Given the description of an element on the screen output the (x, y) to click on. 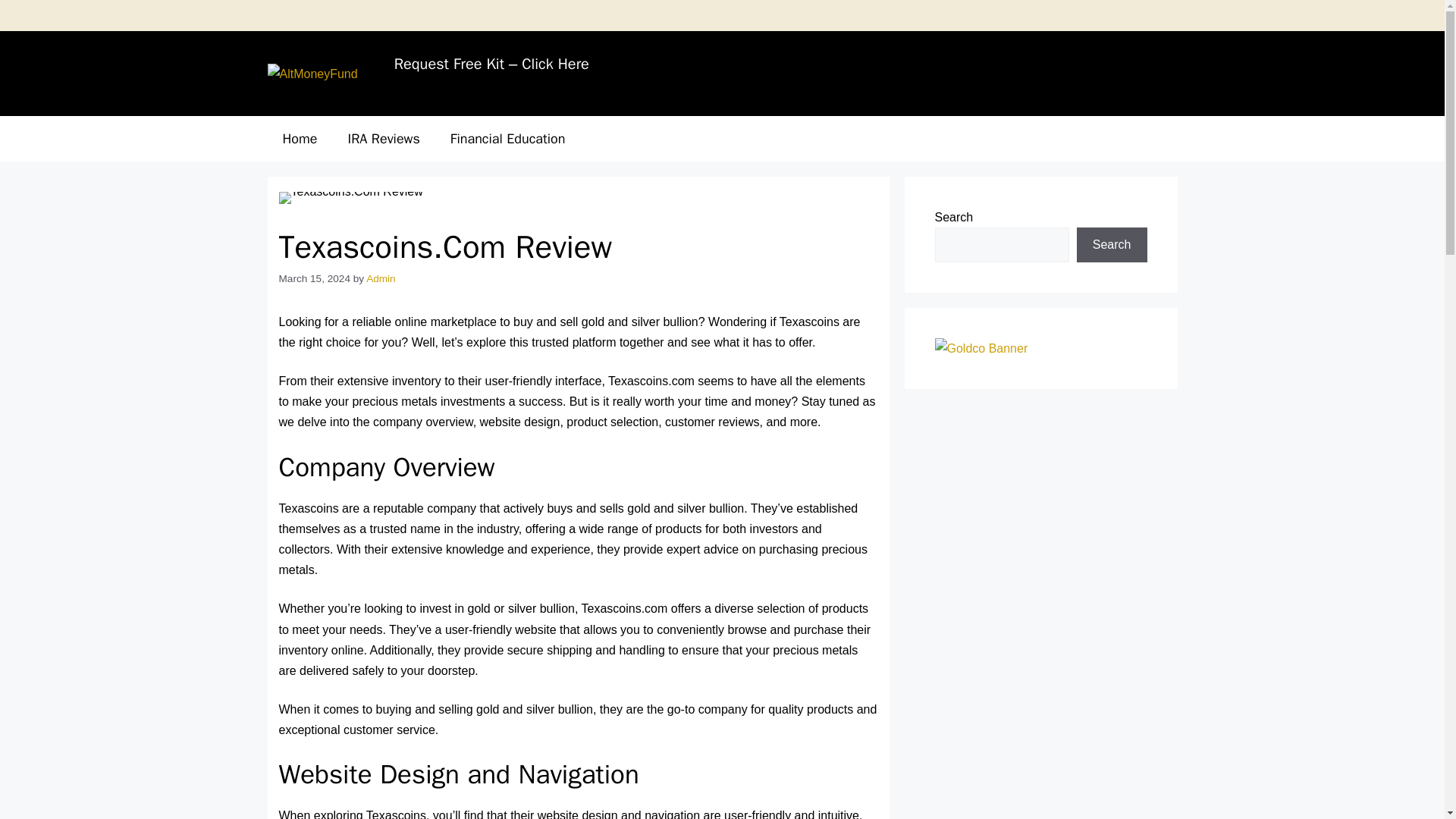
Financial Education (507, 138)
Home (298, 138)
View all posts by Admin (381, 278)
Search (1112, 244)
Admin (381, 278)
IRA Reviews (384, 138)
